Given the description of an element on the screen output the (x, y) to click on. 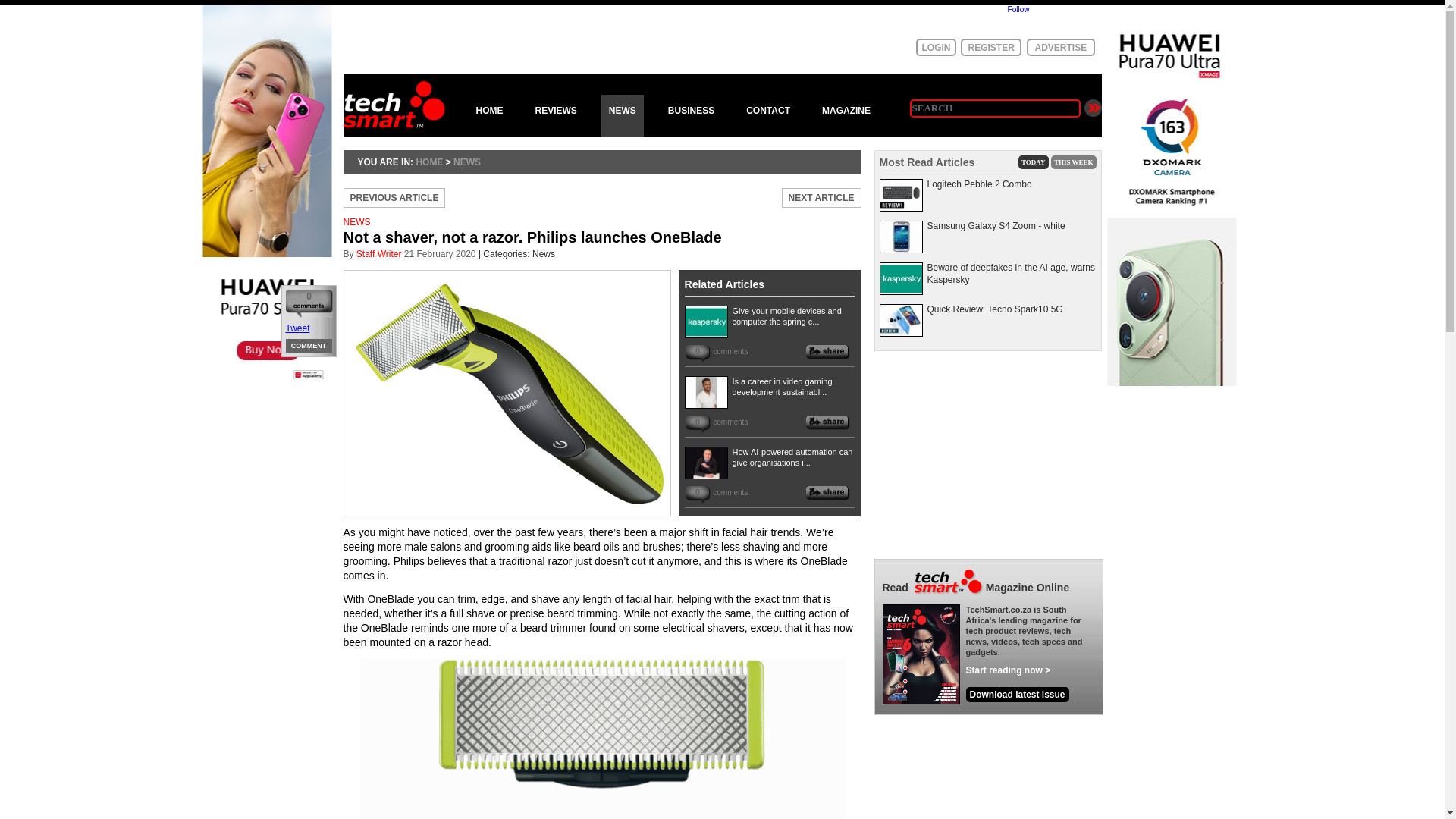
ADVERTISE (1060, 47)
REVIEWS (556, 116)
MAGAZINE (845, 116)
BUSINESS (691, 116)
CONTACT (767, 116)
SEARCH (995, 108)
COMMENT (308, 345)
Not a shaver, not a razor. Philips launches OneBlade (601, 243)
SEARCH (995, 108)
Give your mobile devices and computer the spring c... (786, 315)
